Given the description of an element on the screen output the (x, y) to click on. 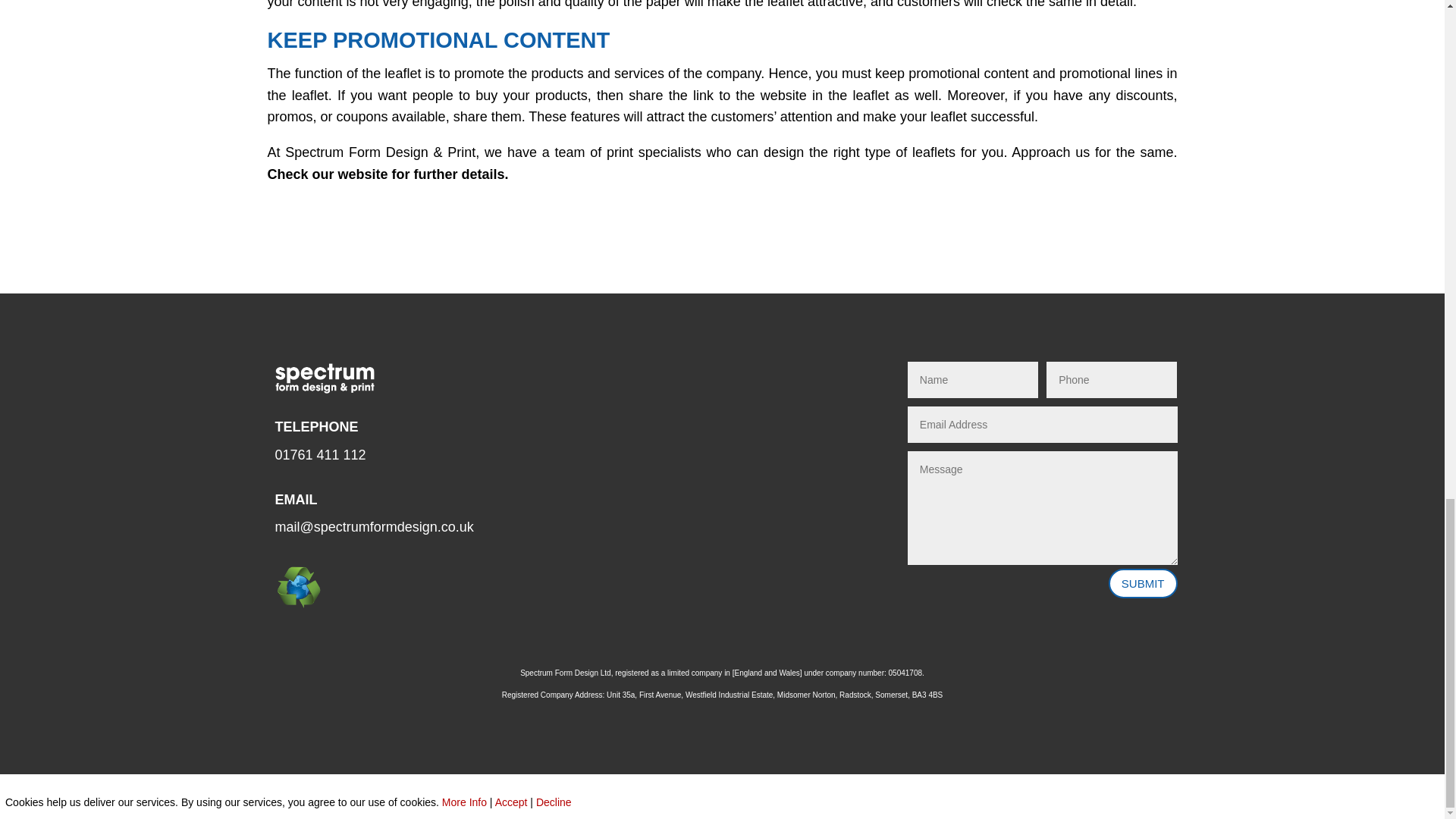
Privacy Policy (615, 795)
SUBMIT (1142, 583)
Conditions of Use (816, 795)
Cookie Policy (710, 795)
01761 411 112 (320, 454)
